Given the description of an element on the screen output the (x, y) to click on. 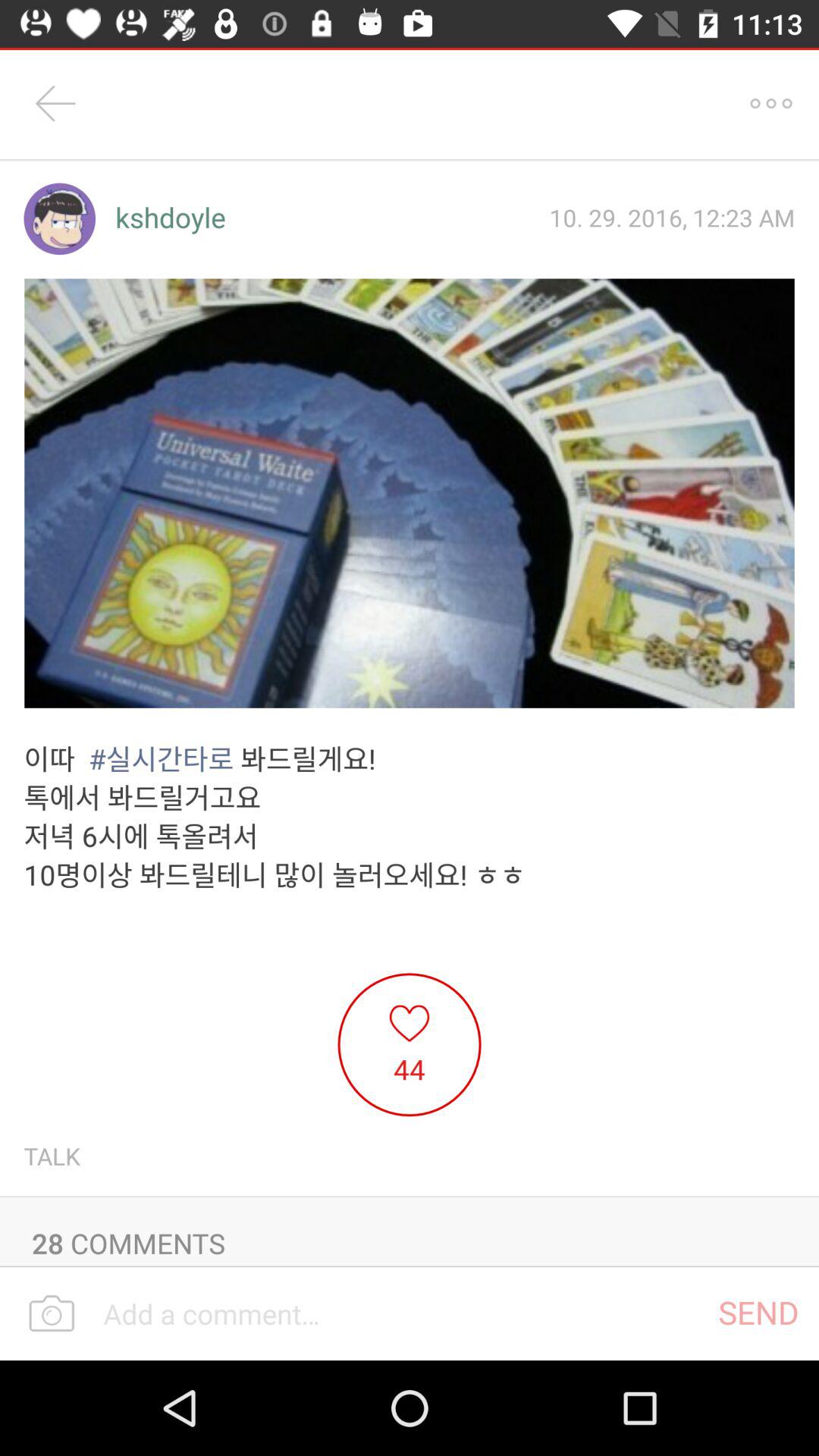
view image (409, 493)
